Given the description of an element on the screen output the (x, y) to click on. 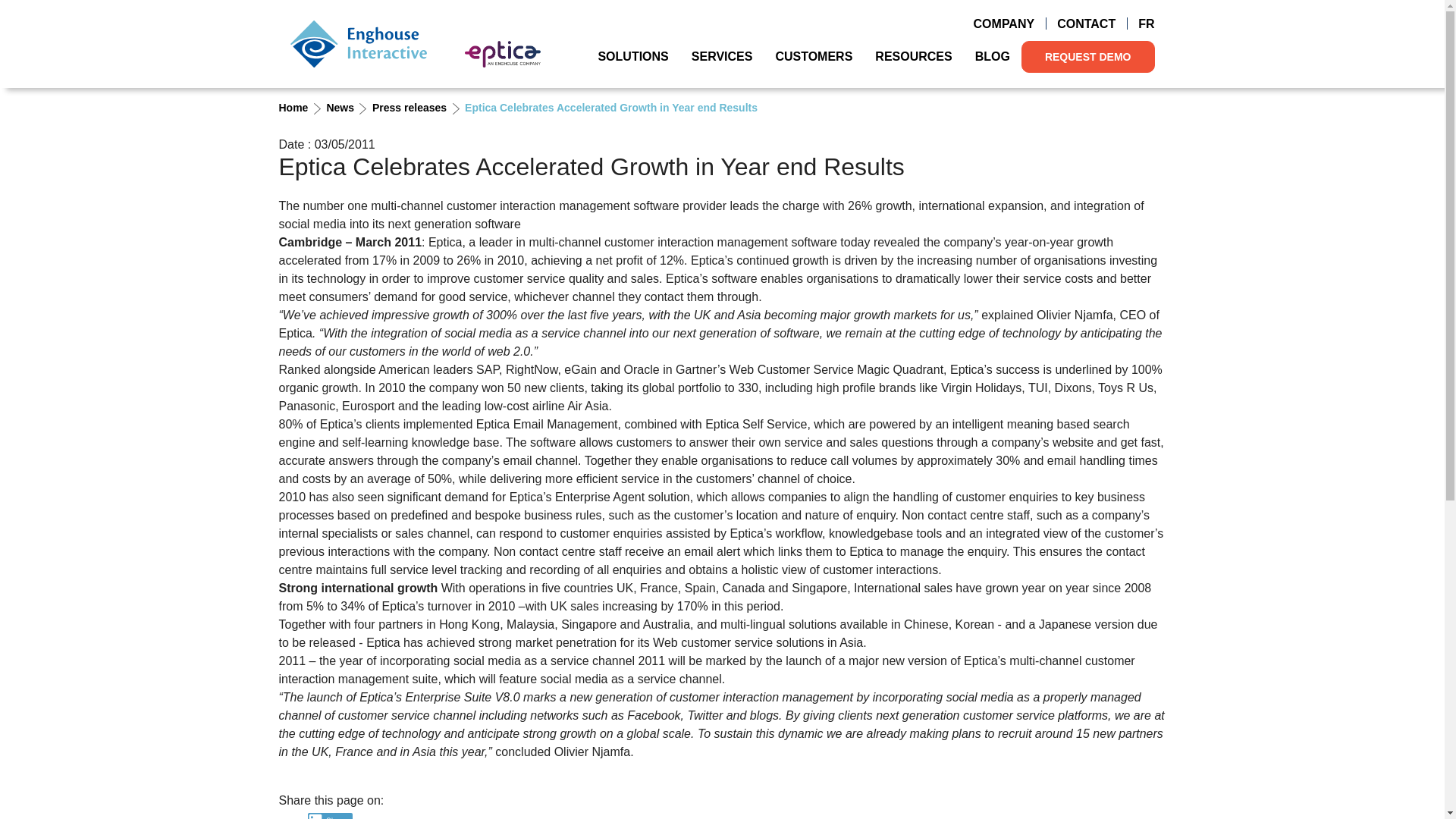
CONTACT (1085, 24)
SOLUTIONS (632, 56)
RESOURCES (913, 56)
SERVICES (721, 56)
CUSTOMERS (812, 56)
Home (357, 43)
COMPANY (1004, 24)
